Given the description of an element on the screen output the (x, y) to click on. 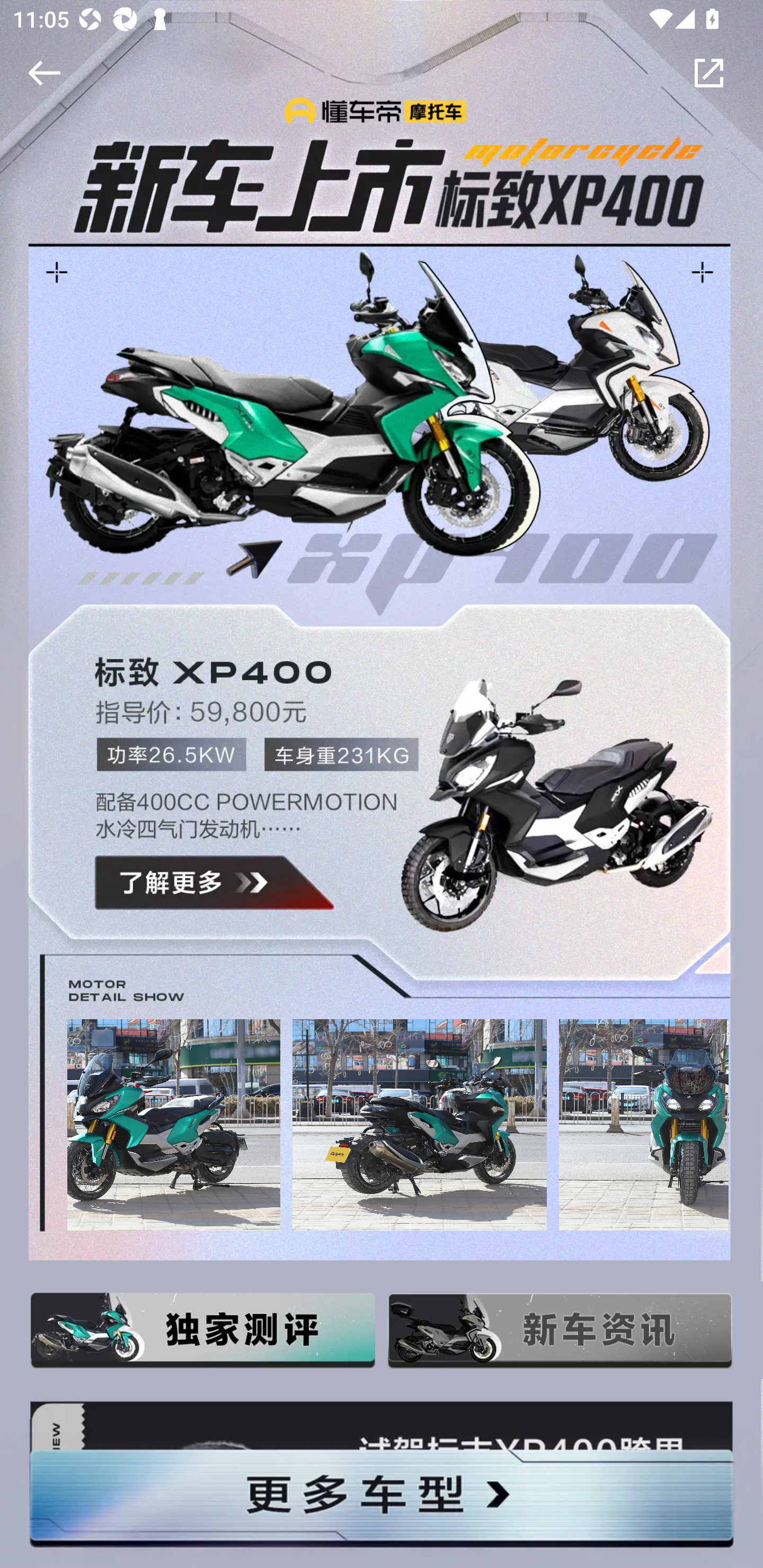
 (41, 72)
